Given the description of an element on the screen output the (x, y) to click on. 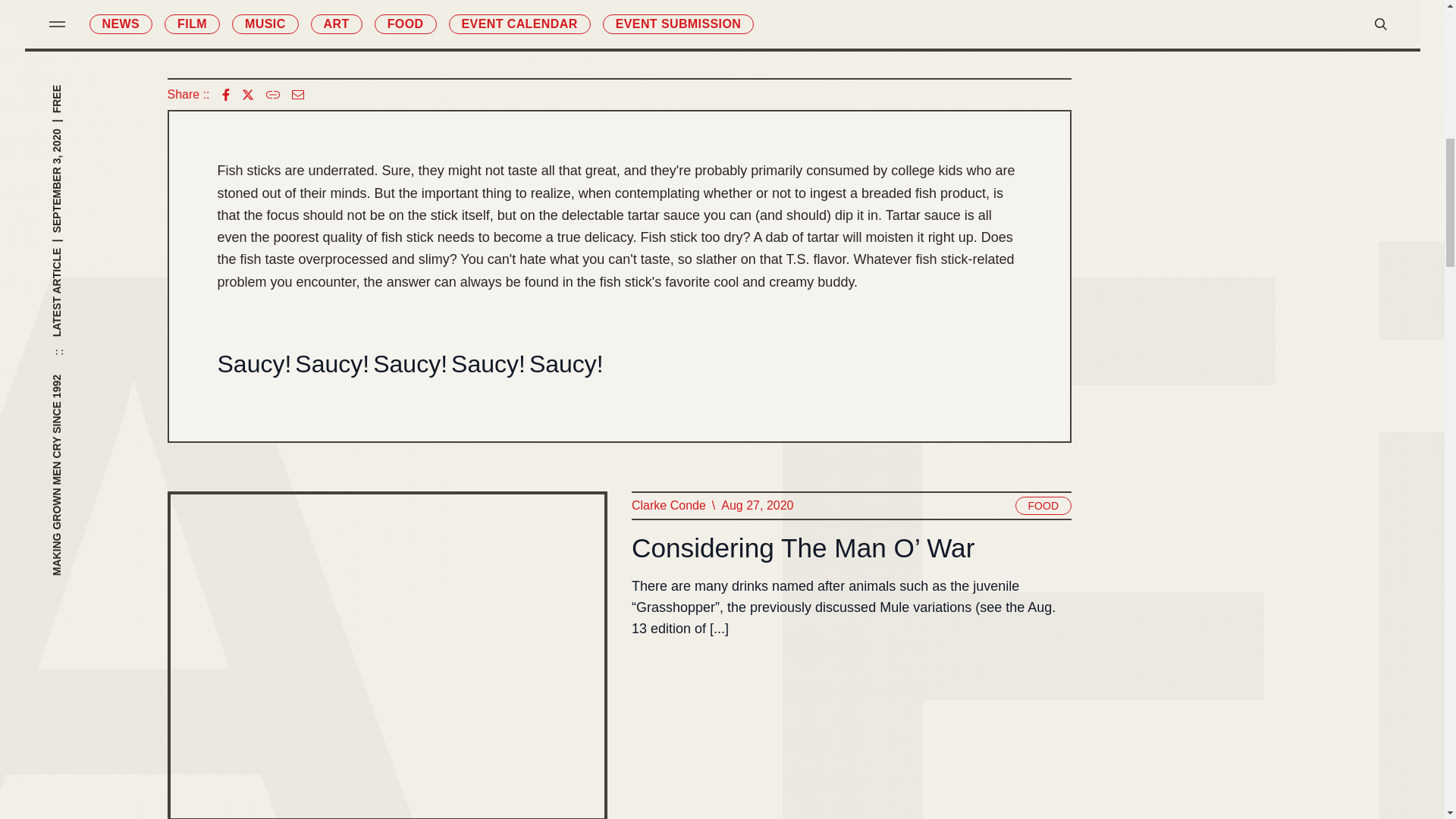
Clarke Conde (667, 505)
FOOD (1042, 505)
Advertisement (618, 27)
